Given the description of an element on the screen output the (x, y) to click on. 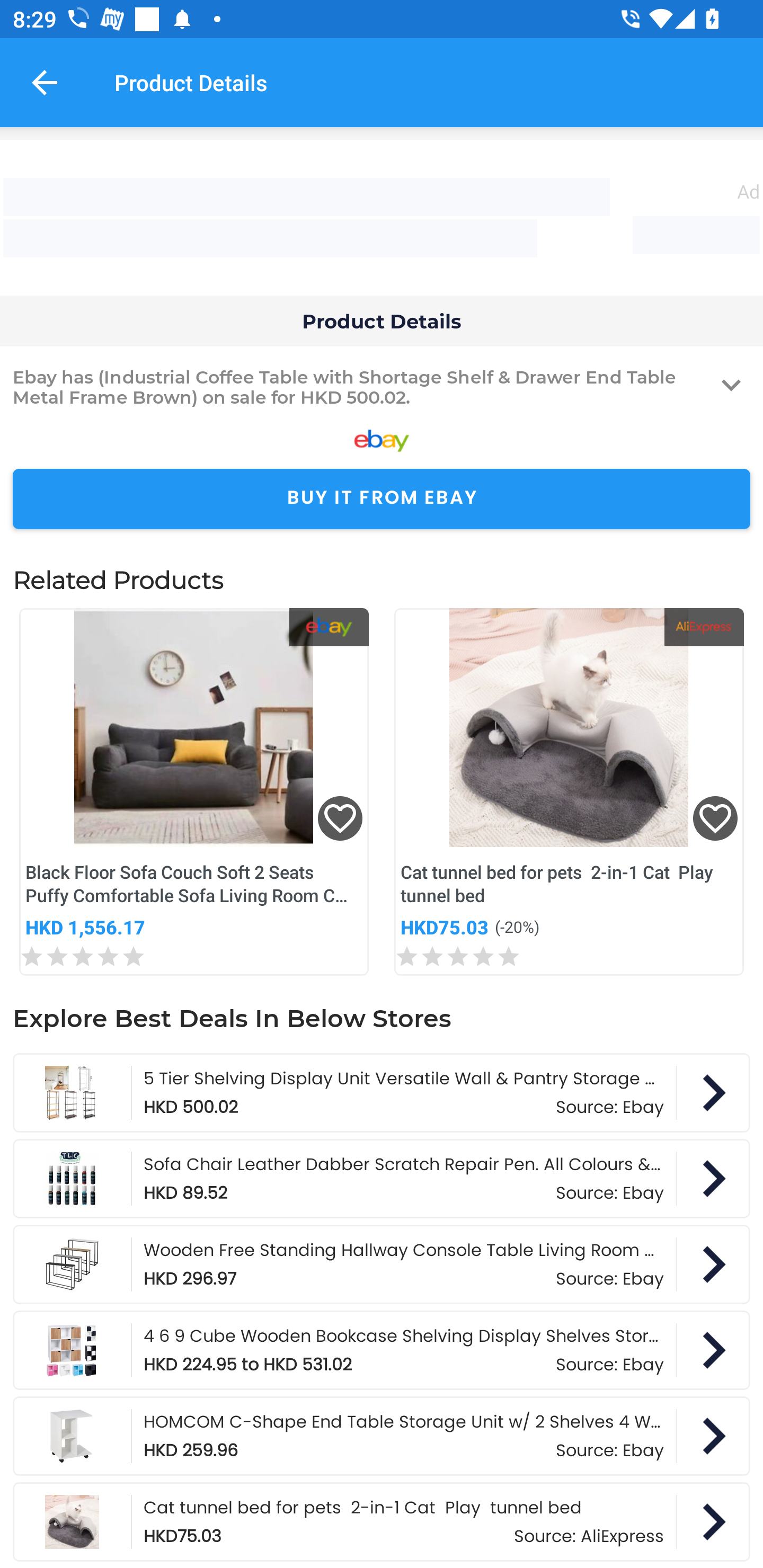
Navigate up (44, 82)
BUY IT FROM EBAY (381, 499)
